Given the description of an element on the screen output the (x, y) to click on. 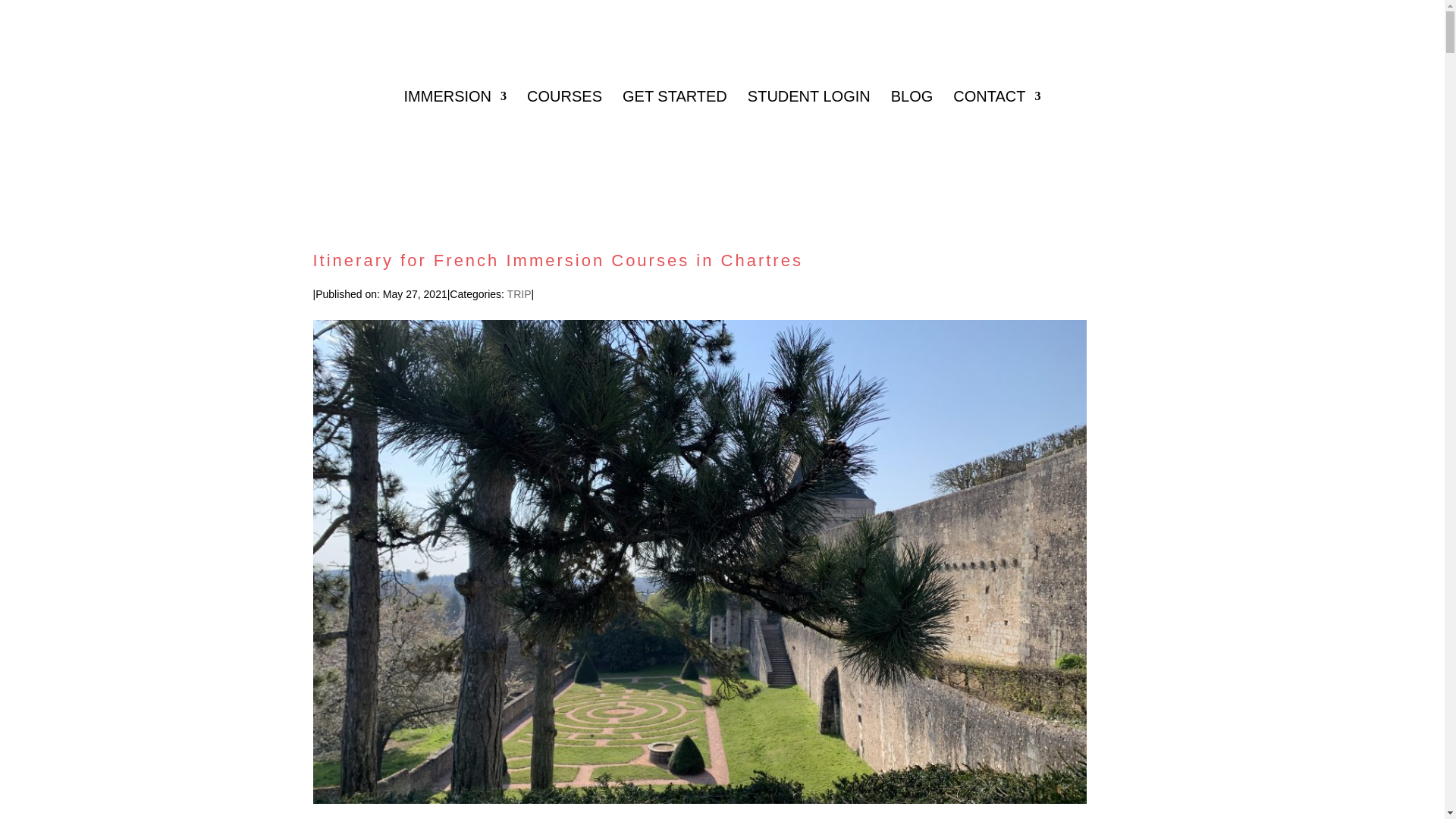
IMMERSION (454, 133)
STUDENT LOGIN (809, 133)
GET STARTED (674, 133)
TRIP (518, 294)
CONTACT (997, 133)
